Given the description of an element on the screen output the (x, y) to click on. 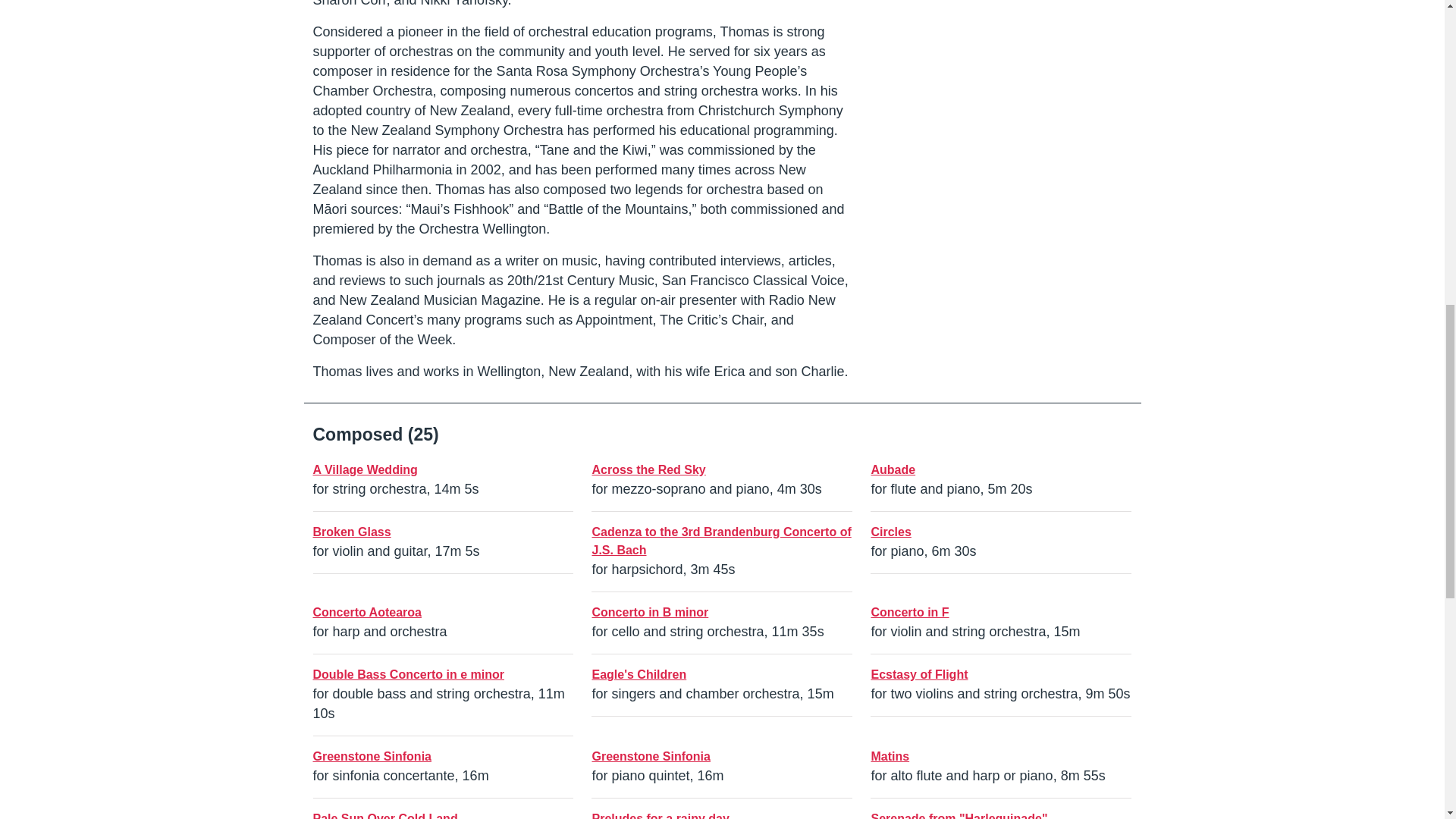
Cadenza to the 3rd Brandenburg Concerto of J.S. Bach (720, 540)
Greenstone Sinfonia (650, 756)
Concerto in B minor (649, 612)
Greenstone Sinfonia (371, 756)
Eagle's Children (638, 674)
Pale Sun Over Cold Land (385, 815)
A Village Wedding (364, 469)
Matins (889, 756)
Preludes for a rainy day... (664, 815)
Circles (890, 531)
